Given the description of an element on the screen output the (x, y) to click on. 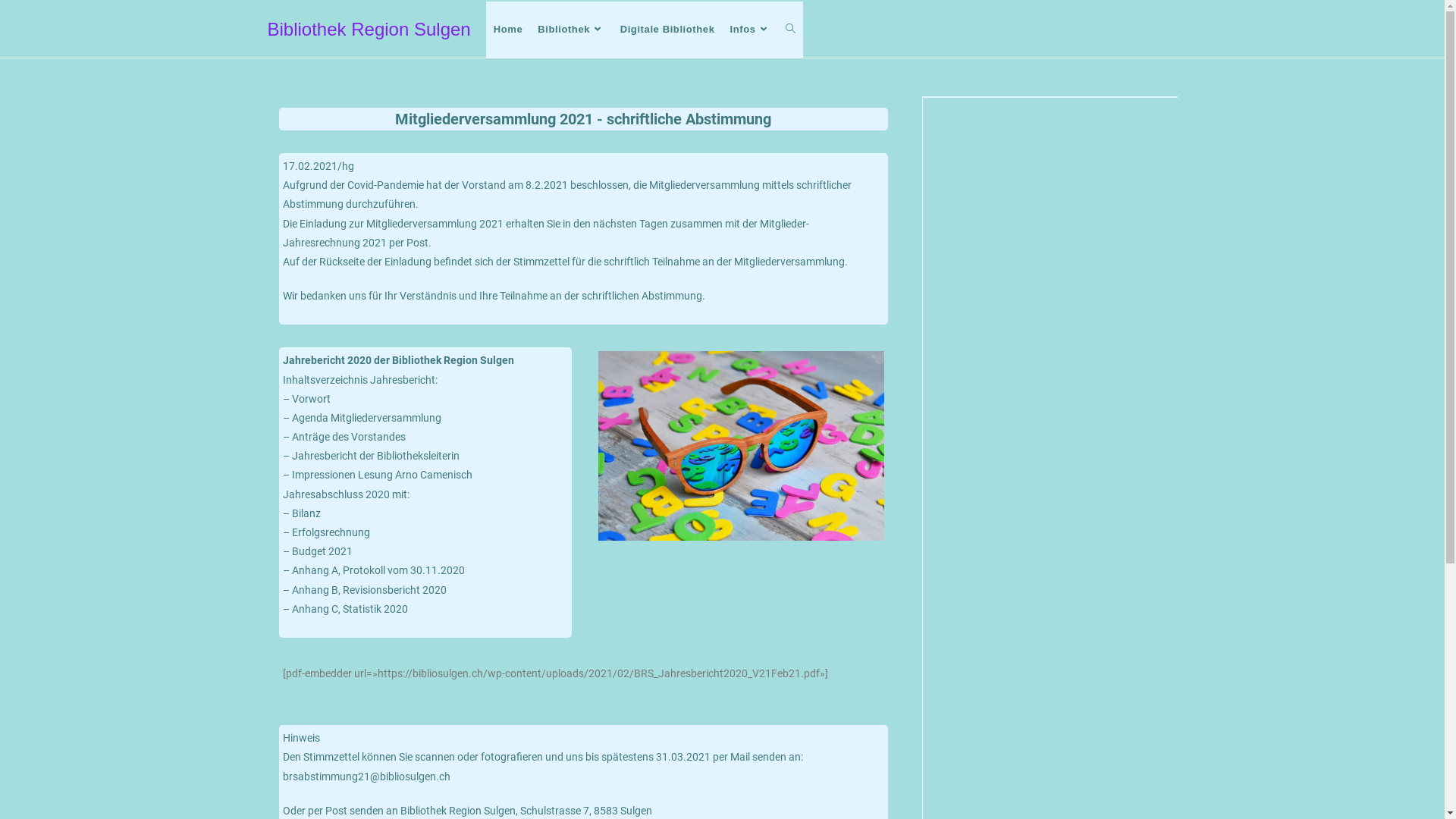
Bibliothek Element type: text (570, 29)
Digitale Bibliothek Element type: text (667, 29)
Infos Element type: text (749, 29)
Home Element type: text (508, 29)
Bibliothek Region Sulgen Element type: text (368, 28)
